Given the description of an element on the screen output the (x, y) to click on. 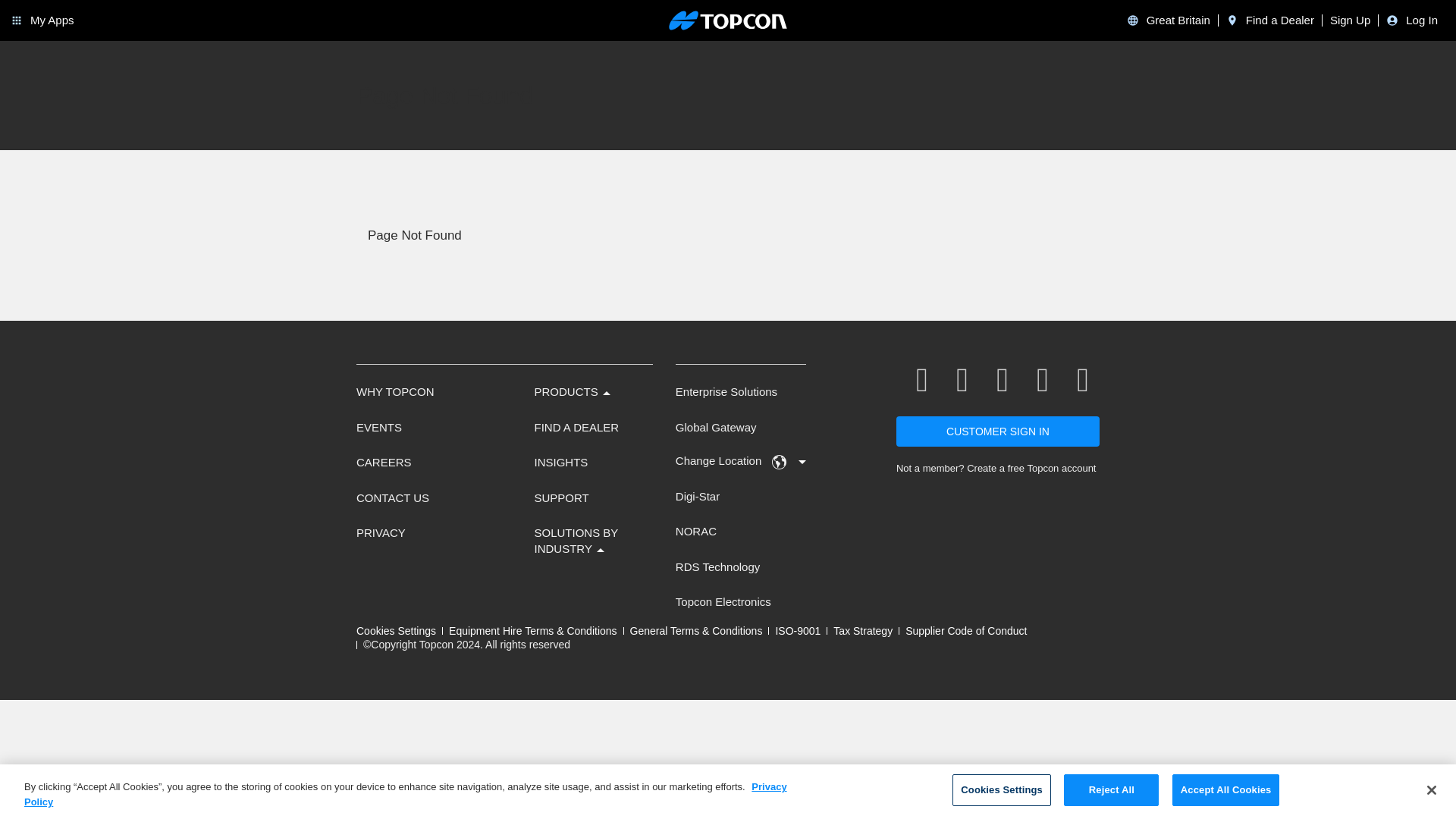
Log In (1422, 20)
Sign Up (1350, 20)
Find a Dealer (1280, 20)
Great Britain (1178, 20)
